Given the description of an element on the screen output the (x, y) to click on. 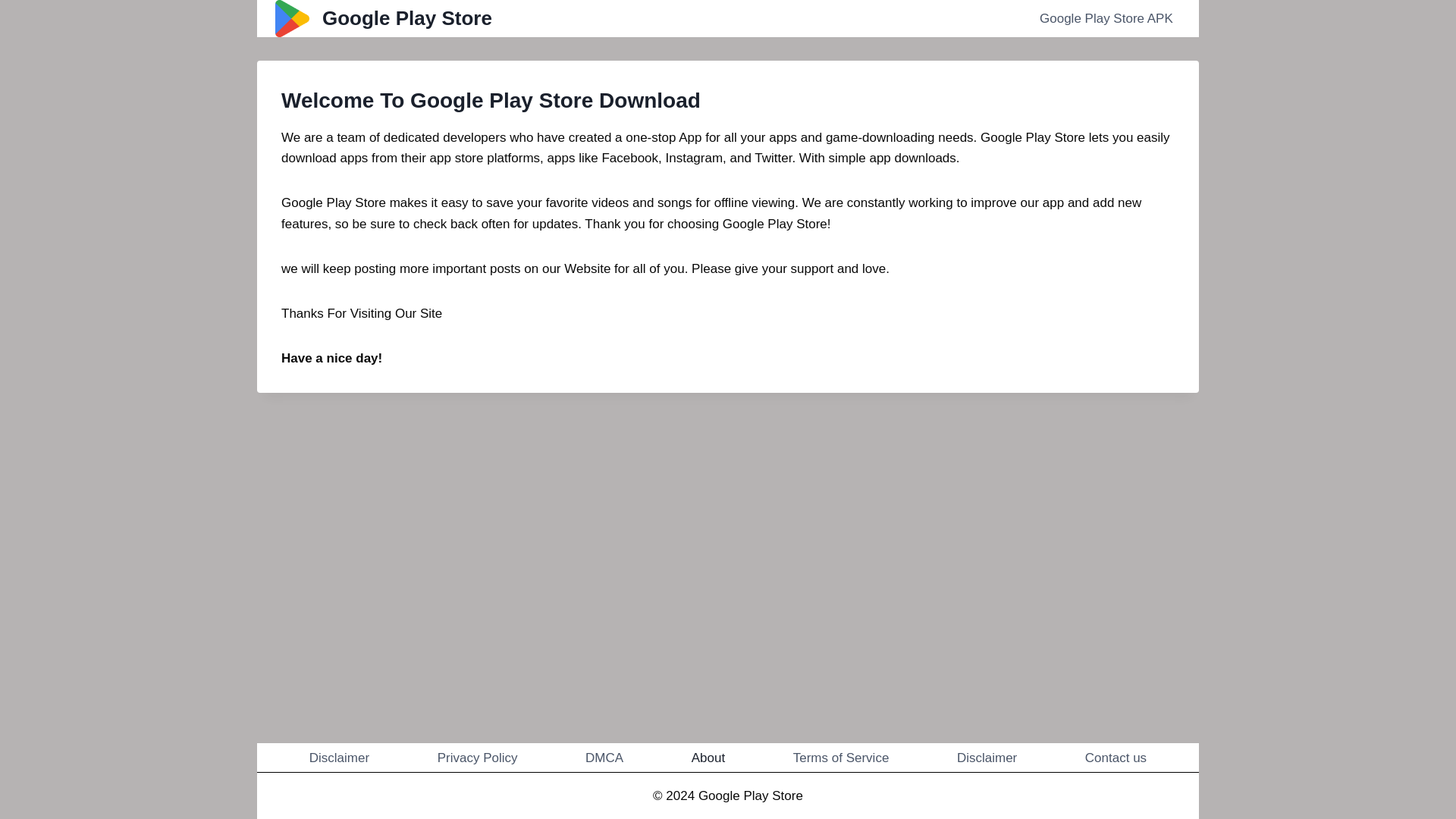
Privacy Policy (477, 756)
About (708, 756)
Google Play Store (383, 18)
Contact us (1115, 756)
Terms of Service (841, 756)
Disclaimer (987, 756)
Google Play Store APK (1106, 18)
Disclaimer (339, 756)
DMCA (604, 756)
